Given the description of an element on the screen output the (x, y) to click on. 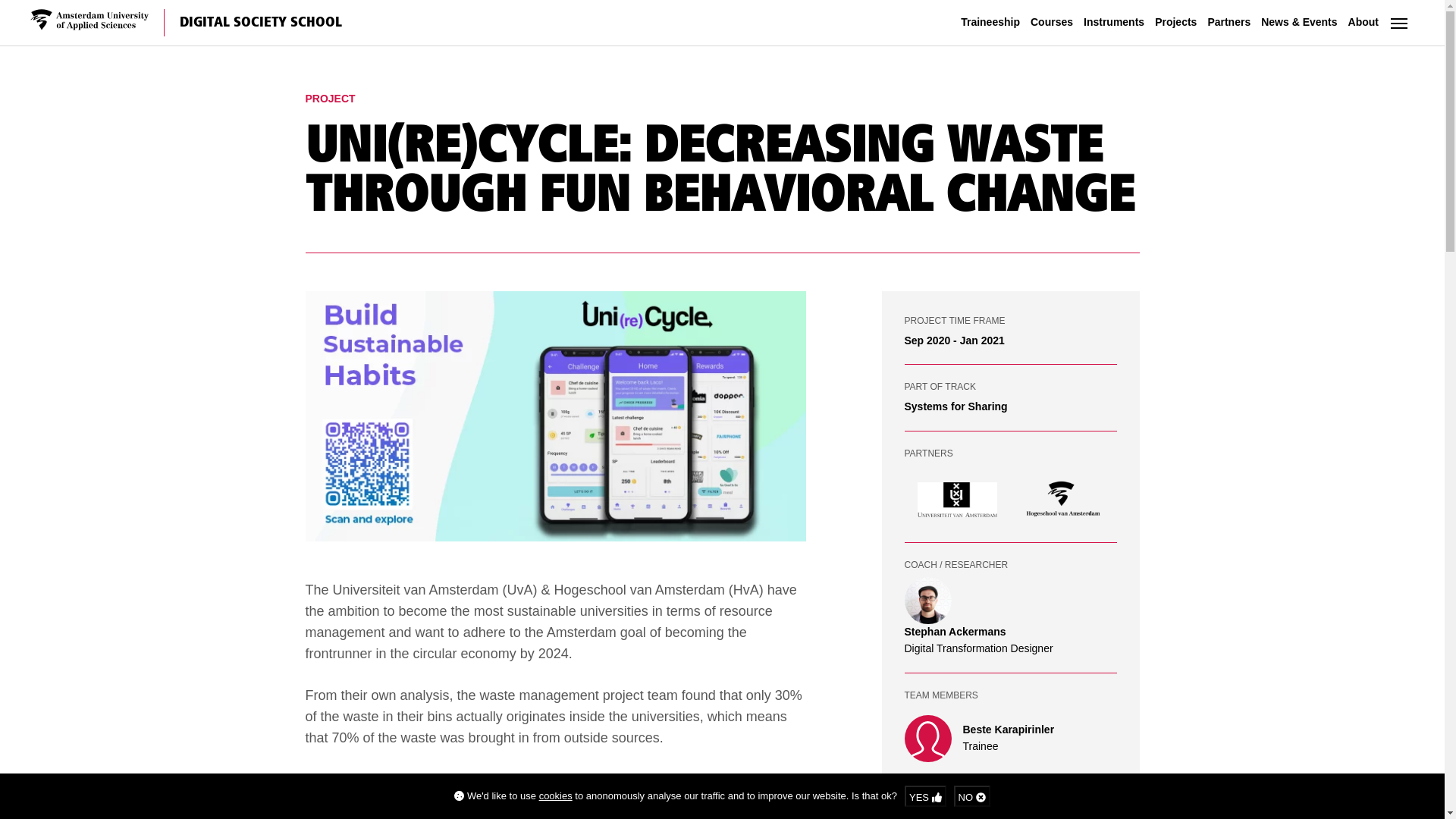
Projects (1176, 22)
Courses (1051, 22)
About (1363, 22)
Systems for Sharing (955, 406)
Traineeship (990, 22)
DIGITAL SOCIETY SCHOOL (259, 22)
Instruments (1114, 22)
Partners (1228, 22)
